Given the description of an element on the screen output the (x, y) to click on. 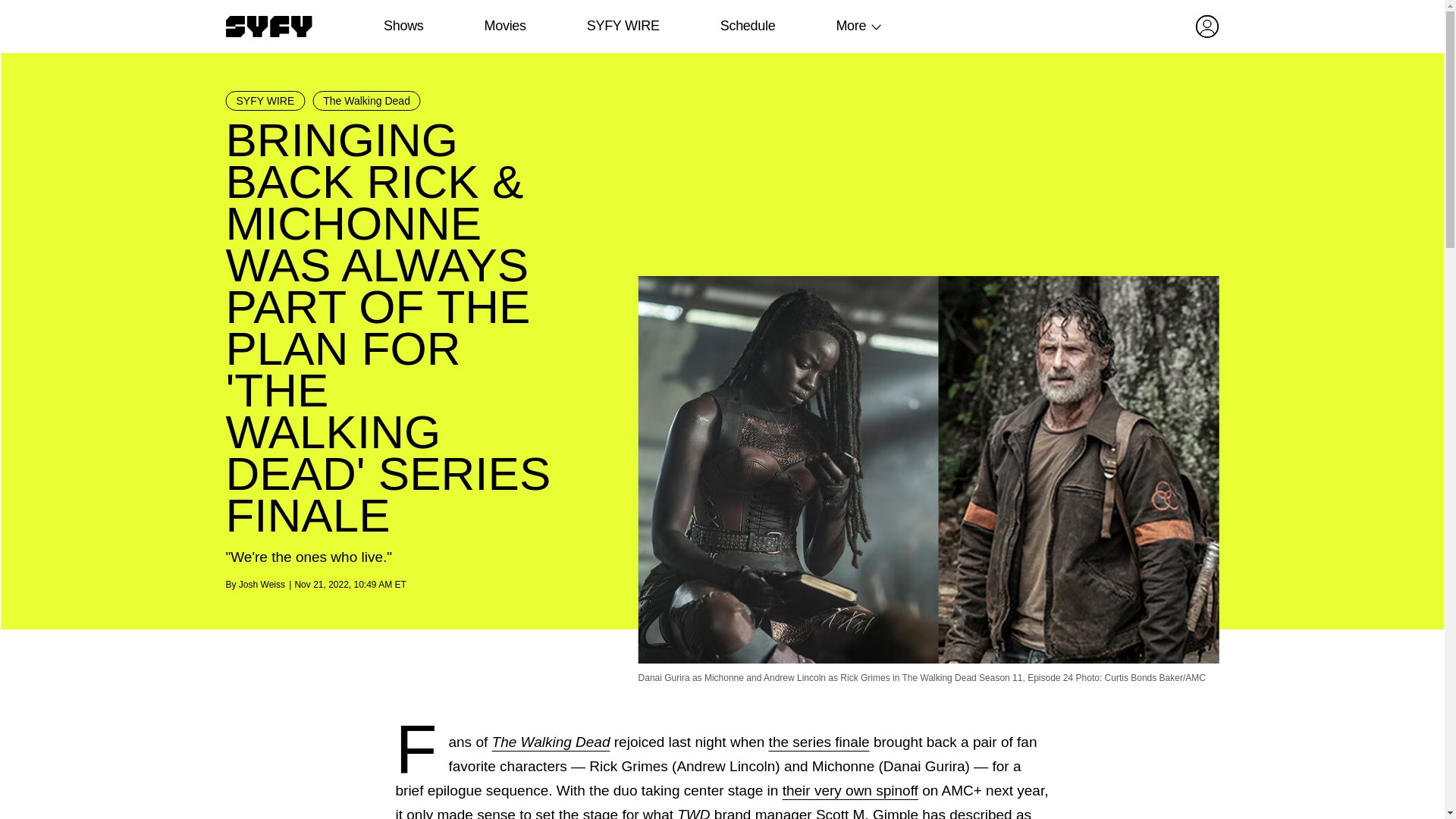
The Walking Dead (366, 100)
Schedule (746, 26)
Movies (504, 26)
SYFY WIRE (265, 100)
More (850, 26)
Josh Weiss (261, 584)
Shows (403, 26)
the series finale (818, 741)
their very own spinoff (850, 790)
The Walking Dead (551, 741)
SYFY WIRE (622, 26)
